Given the description of an element on the screen output the (x, y) to click on. 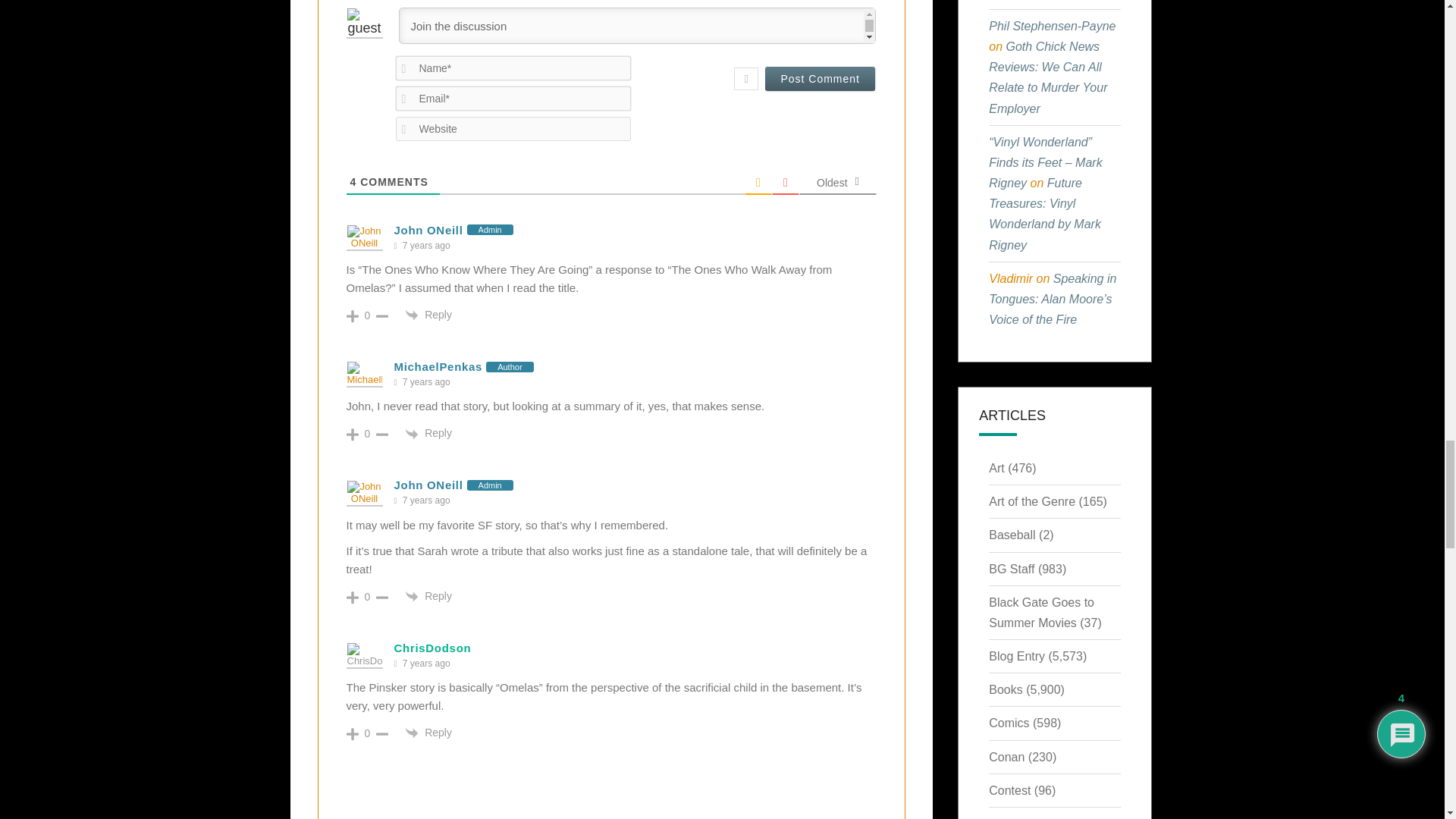
Reviews (457, 458)
here (439, 557)
asimovs.com (542, 261)
Magazines (448, 194)
